Given the description of an element on the screen output the (x, y) to click on. 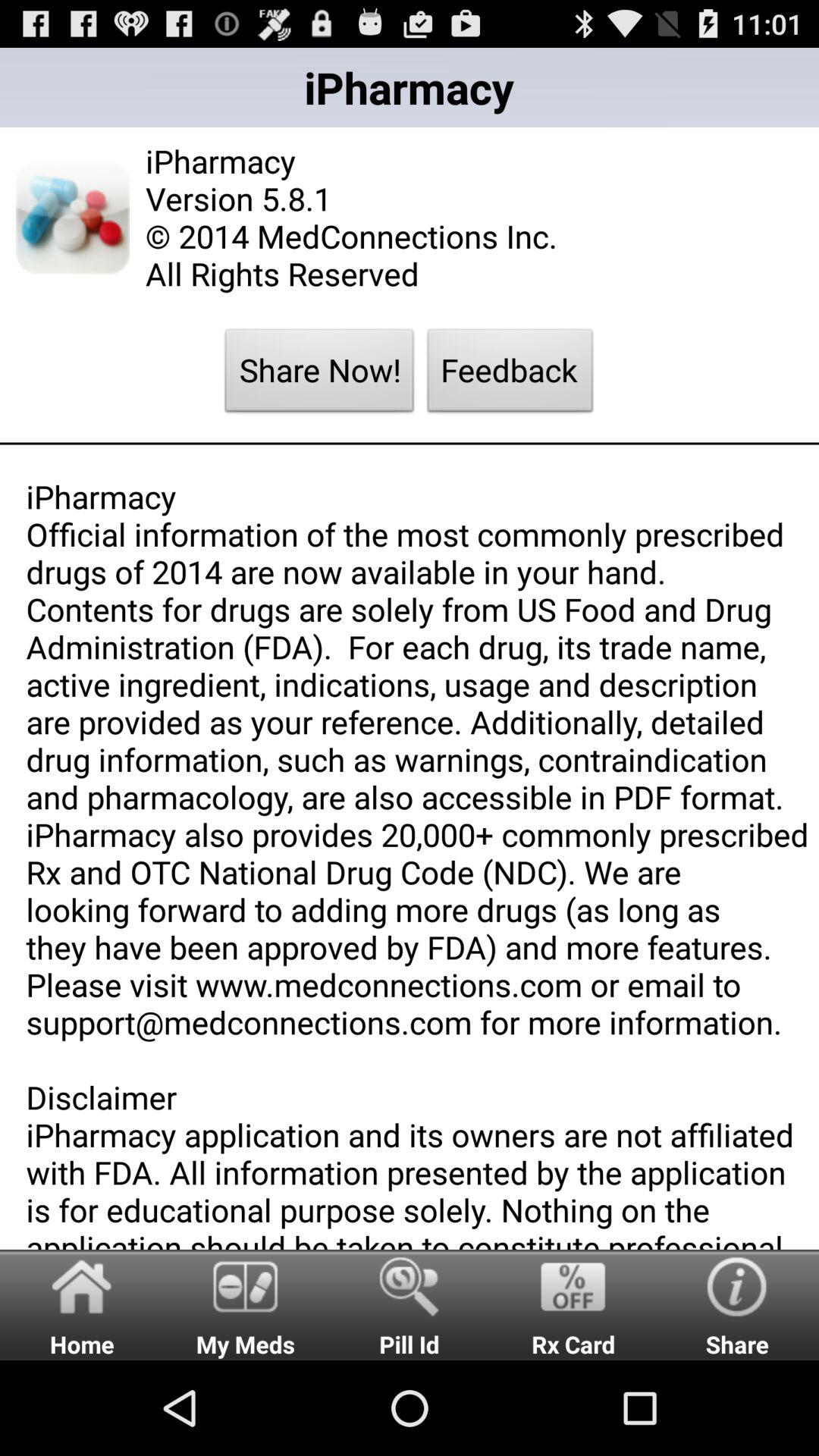
open the icon to the right of my meds item (409, 1304)
